Given the description of an element on the screen output the (x, y) to click on. 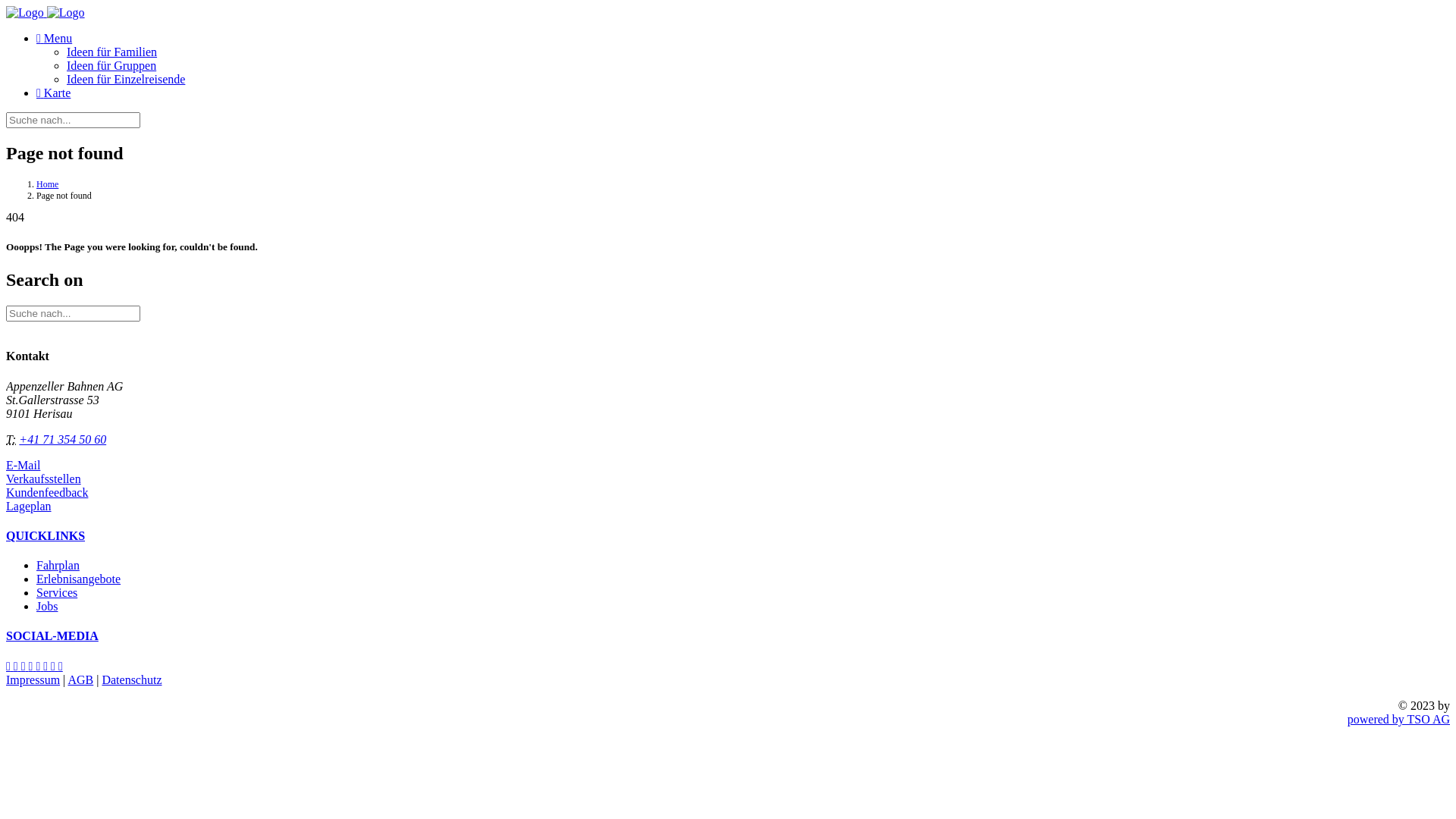
Jobs Element type: text (46, 605)
AGB Element type: text (80, 679)
Services Element type: text (56, 592)
E-Mail Element type: text (23, 464)
Home Element type: text (47, 183)
powered by TSO AG Element type: text (1398, 718)
Lageplan Element type: text (28, 505)
Kundenfeedback Element type: text (46, 492)
+41 71 354 50 60 Element type: text (62, 439)
SOCIAL-MEDIA Element type: text (52, 635)
Datenschutz Element type: text (131, 679)
Fahrplan Element type: text (57, 564)
Impressum Element type: text (32, 679)
Erlebnisangebote Element type: text (78, 578)
QUICKLINKS Element type: text (45, 535)
Verkaufsstellen Element type: text (43, 478)
